Given the description of an element on the screen output the (x, y) to click on. 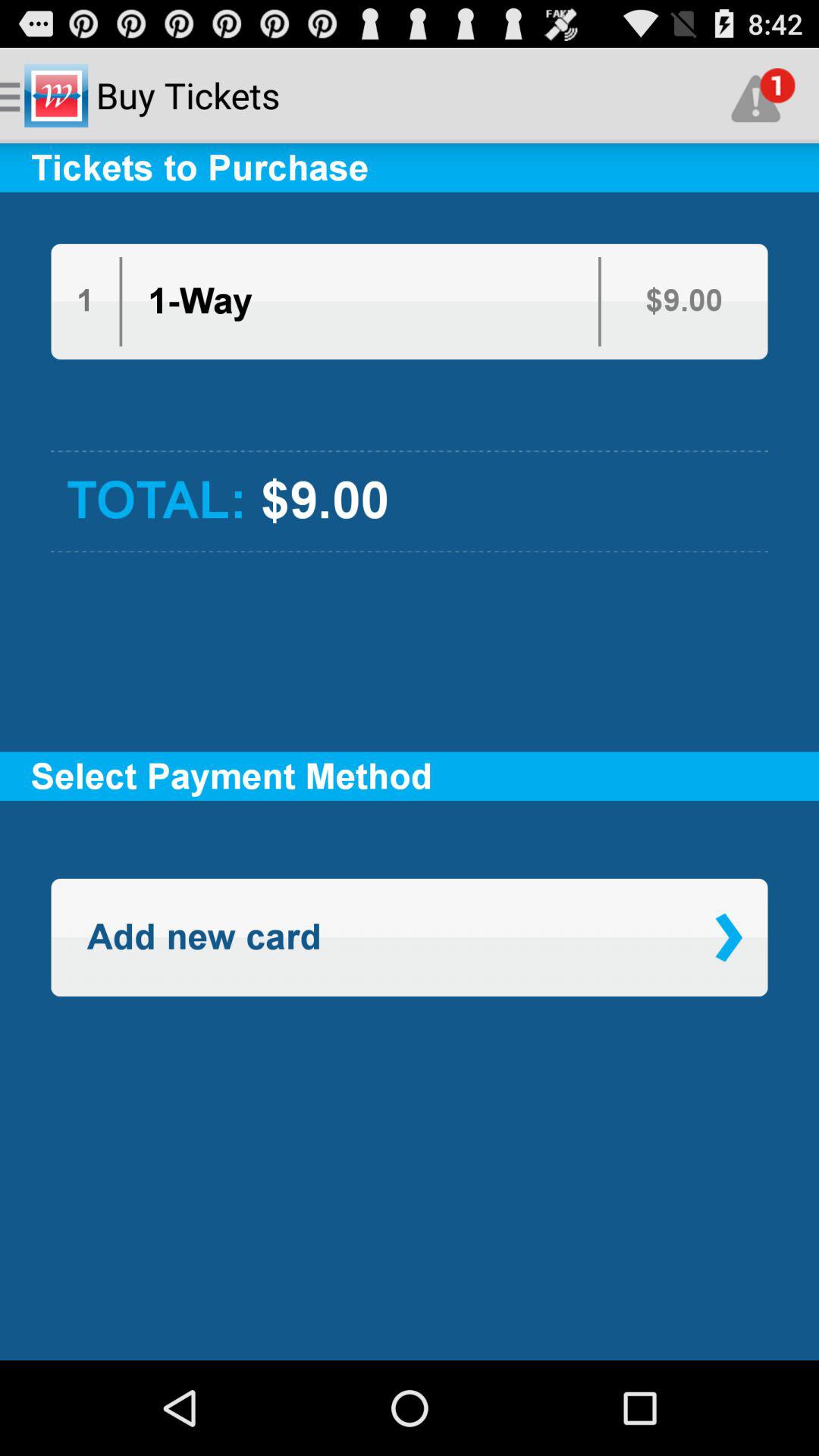
open the item next to the add new card item (728, 937)
